Given the description of an element on the screen output the (x, y) to click on. 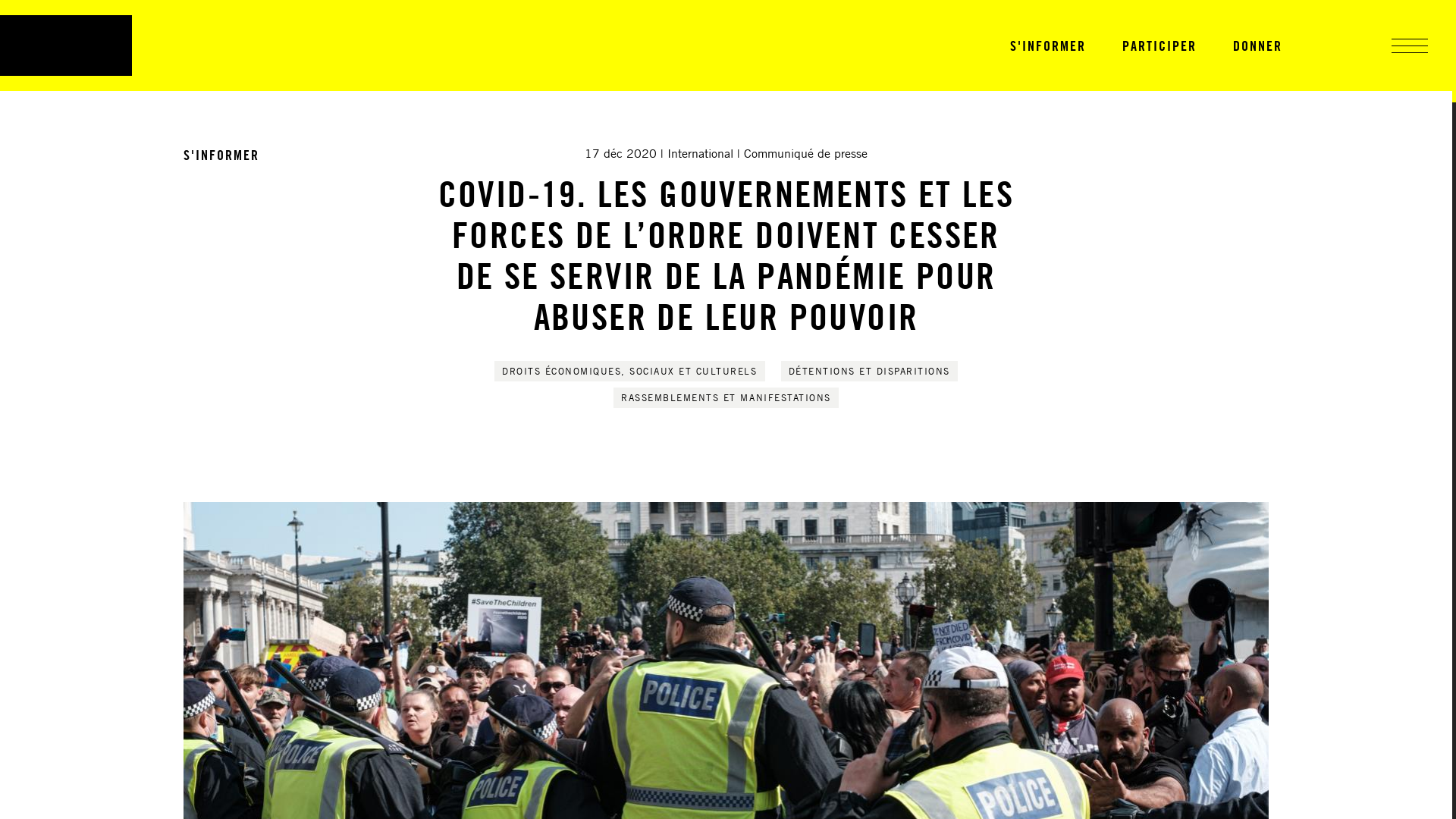
S'INFORMER Element type: text (1047, 45)
RASSEMBLEMENTS ET MANIFESTATIONS Element type: text (725, 397)
DONNER Element type: text (1257, 45)
S'INFORMER Element type: text (221, 154)
PARTICIPER Element type: text (1159, 45)
